Given the description of an element on the screen output the (x, y) to click on. 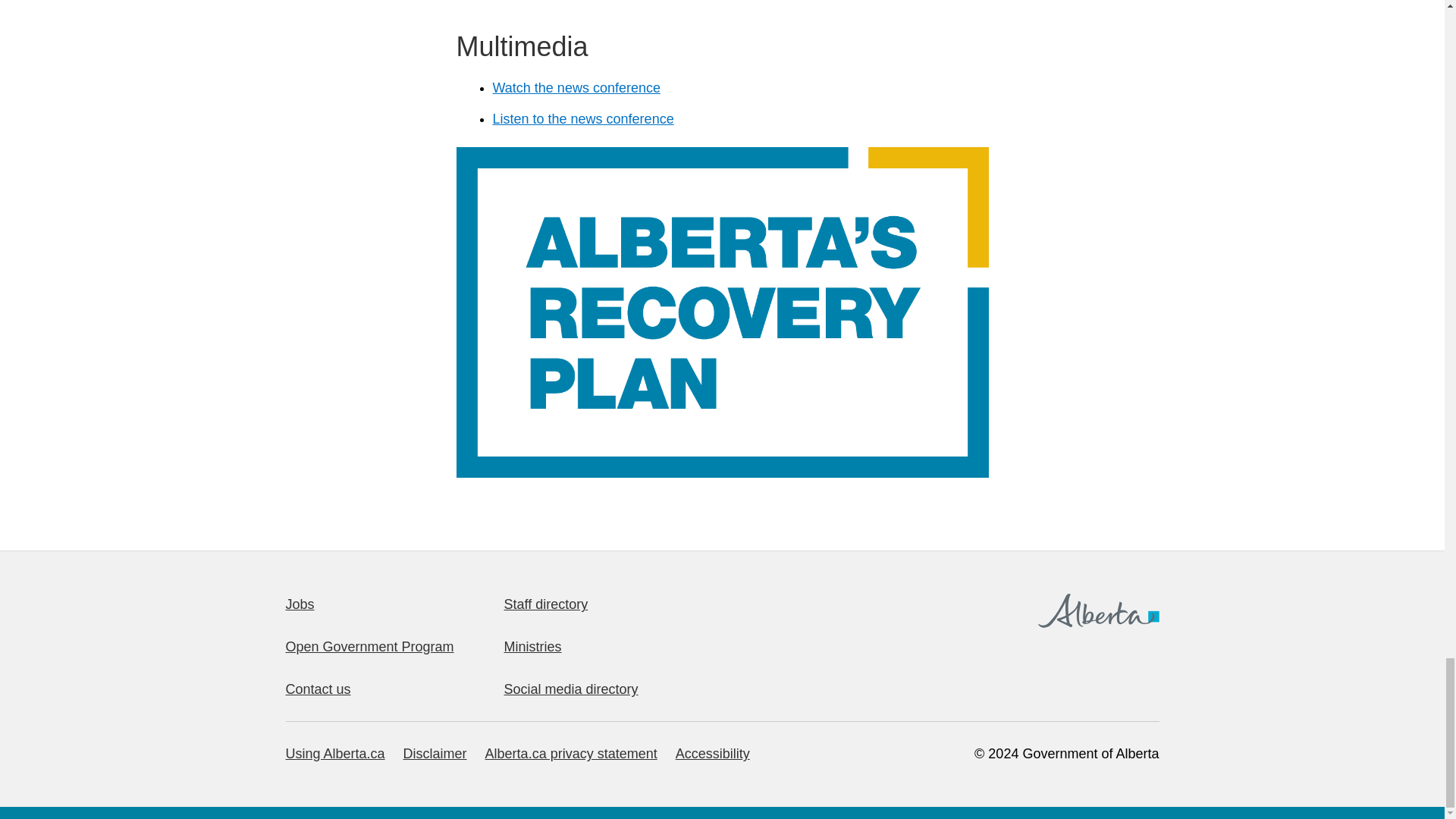
Staff directory (545, 604)
Jobs (299, 604)
Social media directory (570, 688)
Accessibility (712, 753)
Alberta.ca privacy statement (571, 753)
Using Alberta.ca (334, 753)
Ministries (531, 646)
Open Government Program (368, 646)
Disclaimer (435, 753)
Listen to the news conference (583, 118)
Contact us (317, 688)
Watch the news conference (577, 87)
